Given the description of an element on the screen output the (x, y) to click on. 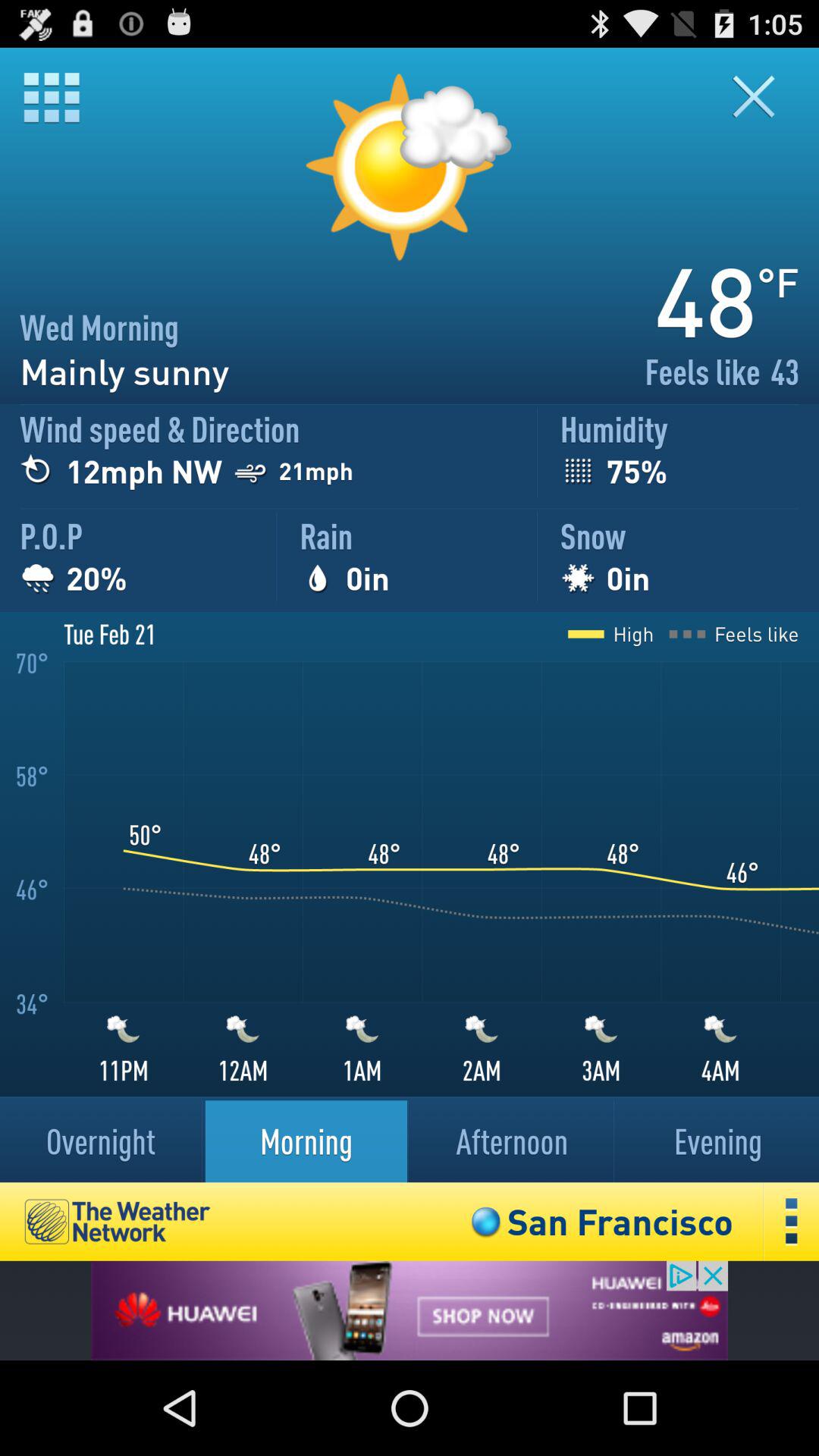
menu options (51, 97)
